Given the description of an element on the screen output the (x, y) to click on. 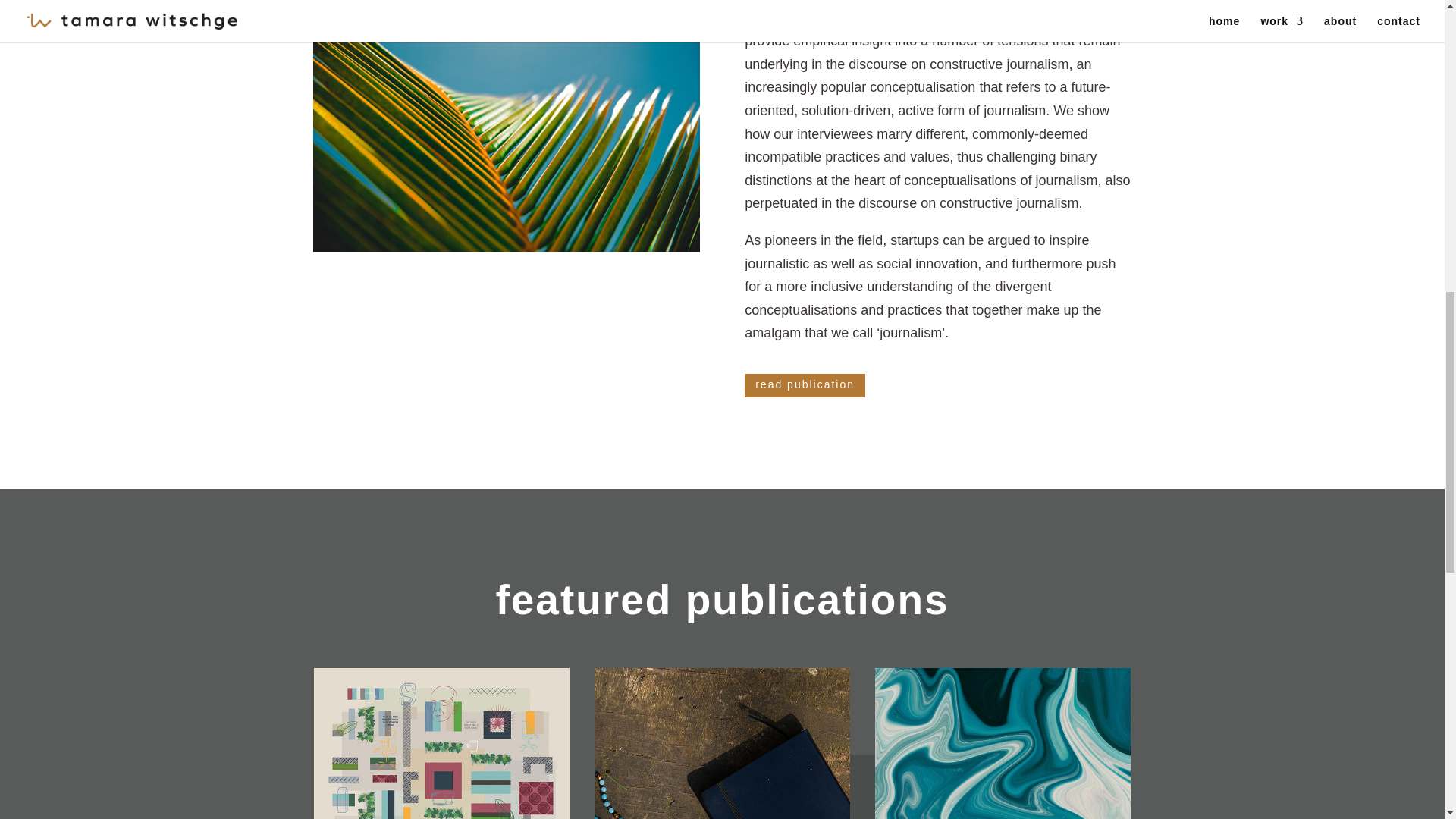
By: Anonymous  (935, 12)
By: Anonymous  (929, 286)
read publication (804, 385)
By: Anonymous  (936, 110)
